Given the description of an element on the screen output the (x, y) to click on. 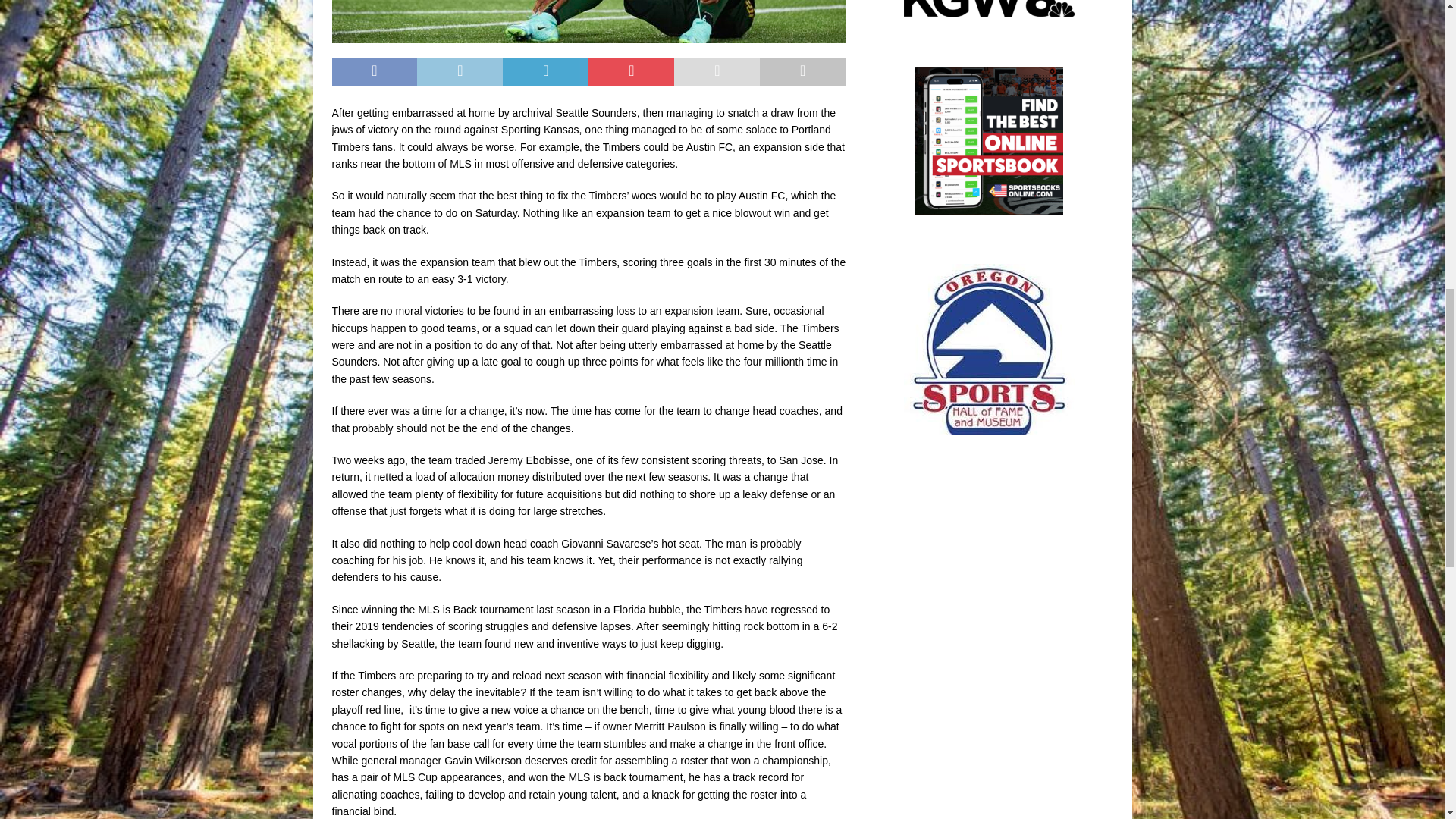
Timbers (588, 21)
